Given the description of an element on the screen output the (x, y) to click on. 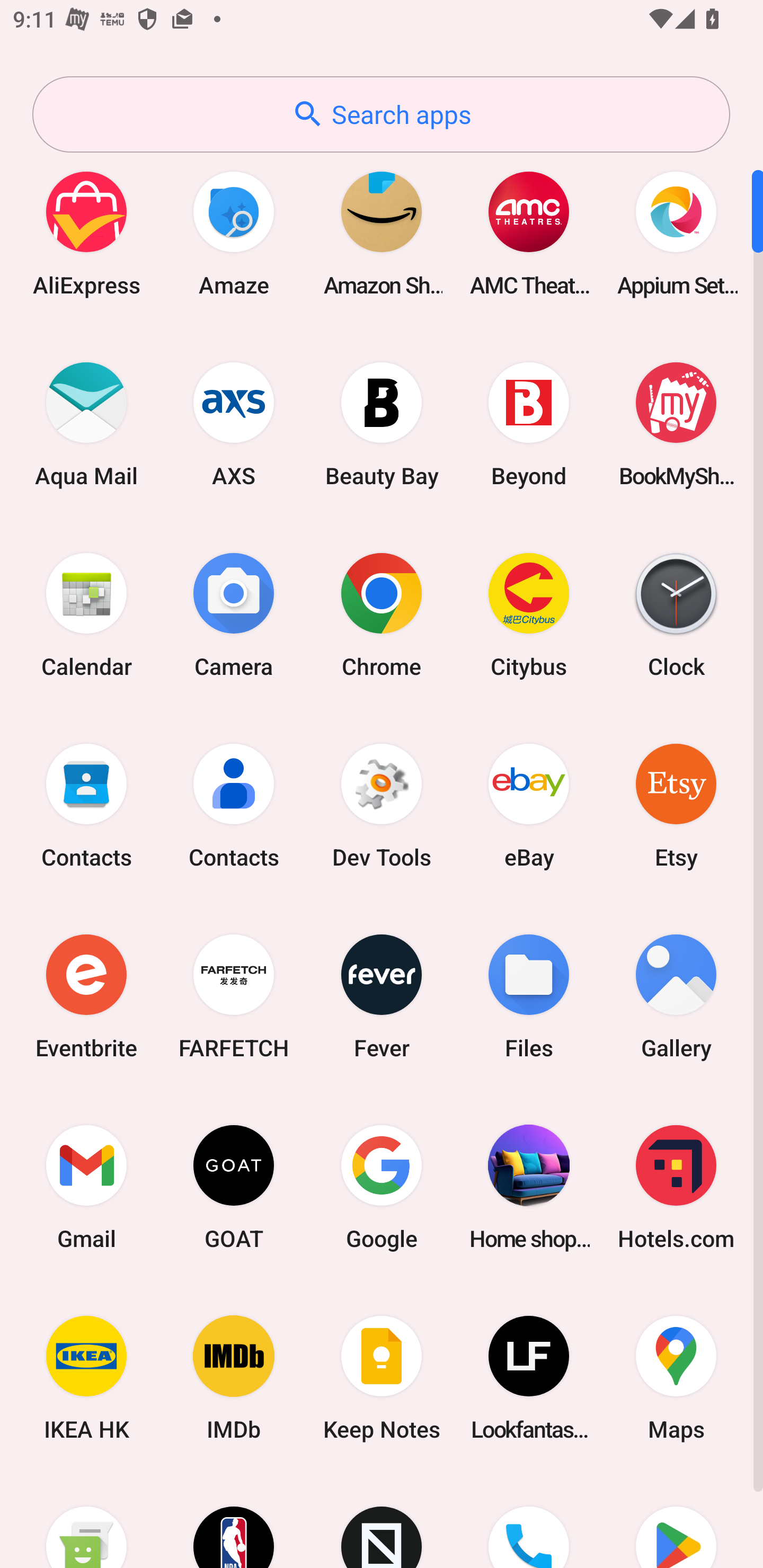
  Search apps (381, 114)
AliExpress (86, 233)
Amaze (233, 233)
Amazon Shopping (381, 233)
AMC Theatres (528, 233)
Appium Settings (676, 233)
Aqua Mail (86, 424)
AXS (233, 424)
Beauty Bay (381, 424)
Beyond (528, 424)
BookMyShow (676, 424)
Calendar (86, 614)
Camera (233, 614)
Chrome (381, 614)
Citybus (528, 614)
Clock (676, 614)
Contacts (86, 805)
Contacts (233, 805)
Dev Tools (381, 805)
eBay (528, 805)
Etsy (676, 805)
Eventbrite (86, 996)
FARFETCH (233, 996)
Fever (381, 996)
Files (528, 996)
Gallery (676, 996)
Gmail (86, 1186)
GOAT (233, 1186)
Google (381, 1186)
Home shopping (528, 1186)
Hotels.com (676, 1186)
IKEA HK (86, 1377)
IMDb (233, 1377)
Keep Notes (381, 1377)
Lookfantastic (528, 1377)
Maps (676, 1377)
Messaging (86, 1520)
NBA (233, 1520)
Novelship (381, 1520)
Phone (528, 1520)
Play Store (676, 1520)
